Given the description of an element on the screen output the (x, y) to click on. 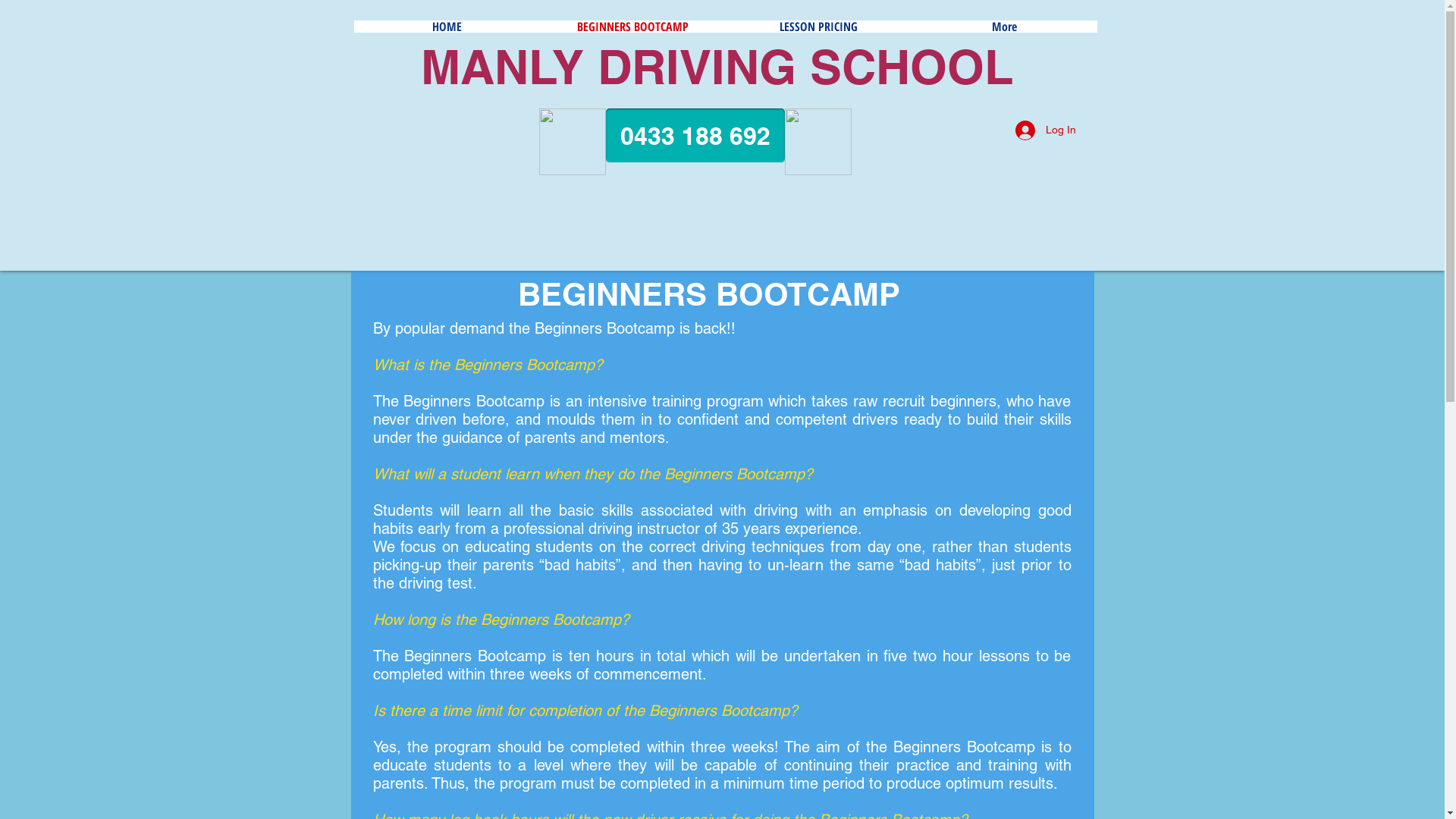
Log In Element type: text (1044, 130)
HOME Element type: text (446, 26)
BEGINNERS BOOTCAMP Element type: text (632, 26)
LESSON PRICING Element type: text (817, 26)
0433 188 692 Element type: text (694, 135)
MANLY DRIVING SCHOOL Element type: text (716, 65)
